Given the description of an element on the screen output the (x, y) to click on. 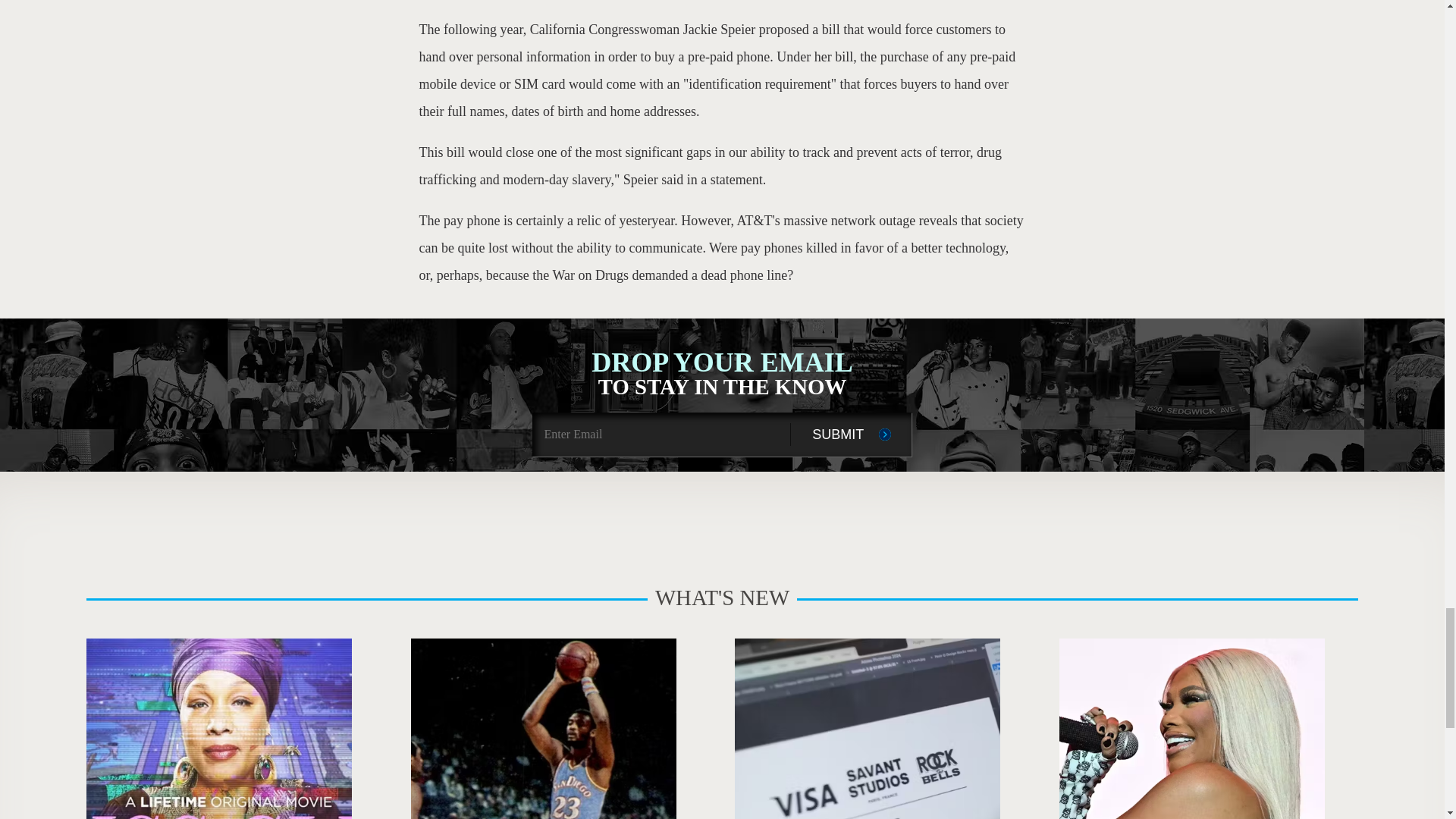
SUBMIT (1191, 728)
